Given the description of an element on the screen output the (x, y) to click on. 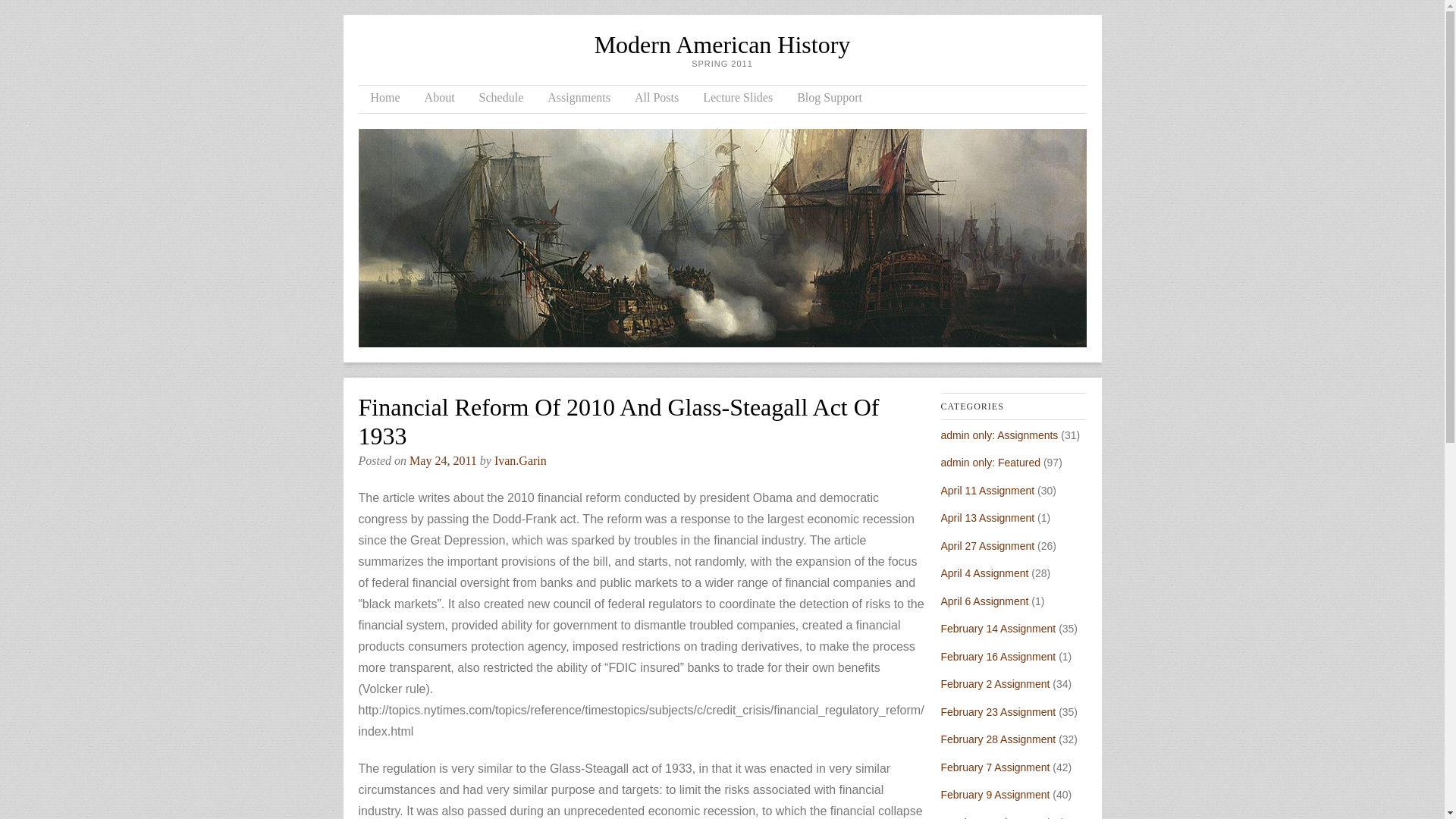
February 14 Assignment (997, 628)
Assignments (579, 99)
February 23 Assignment (997, 711)
April 4 Assignment (983, 573)
February 7 Assignment (994, 767)
admin only: Featured (990, 462)
Home (385, 99)
Lecture Slides (737, 99)
Schedule (501, 99)
February 9 Assignment (994, 794)
